Given the description of an element on the screen output the (x, y) to click on. 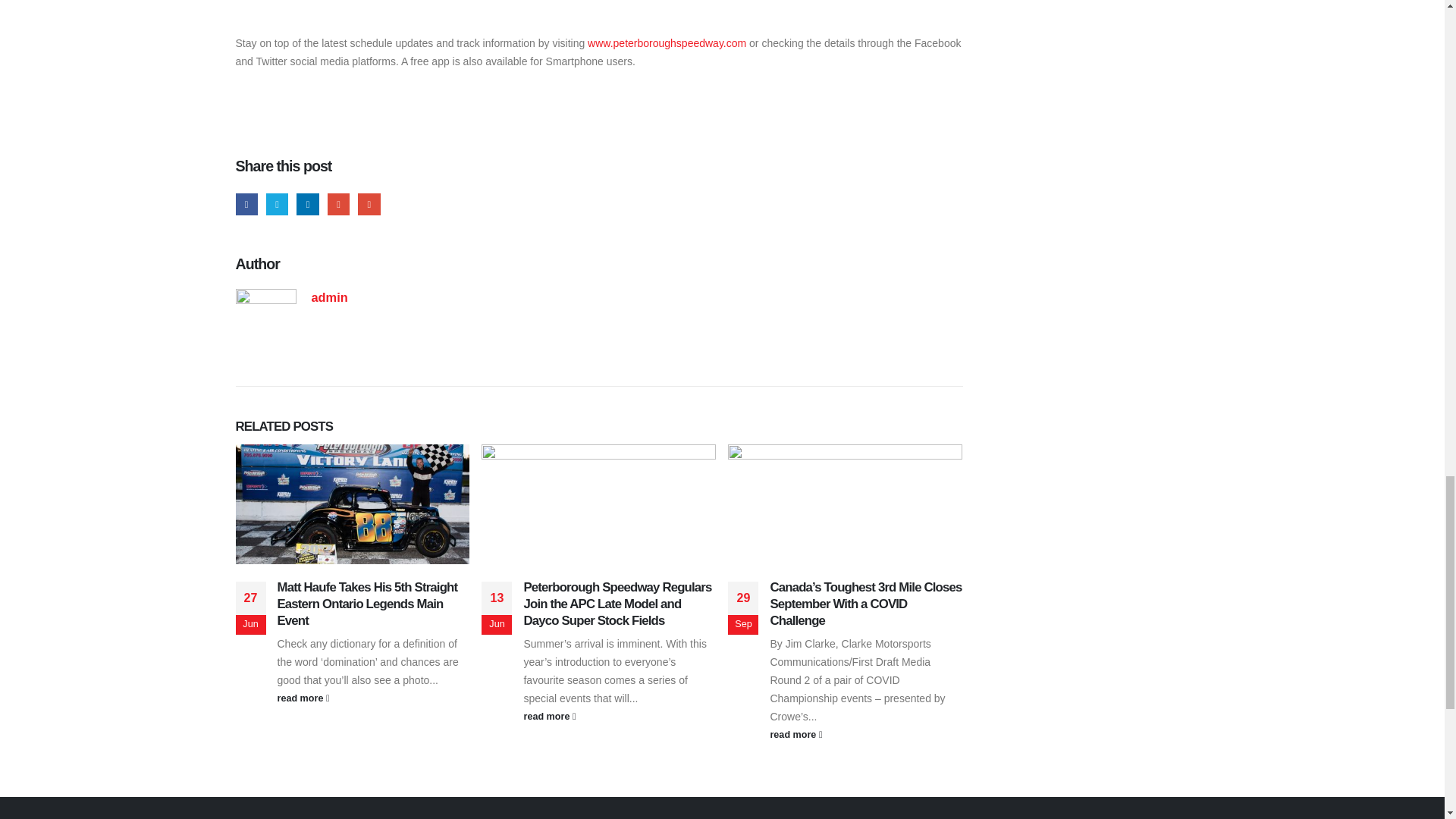
Facebook (245, 204)
LinkedIn (307, 204)
Twitter (277, 204)
Email (369, 204)
Posts by admin (329, 296)
